Given the description of an element on the screen output the (x, y) to click on. 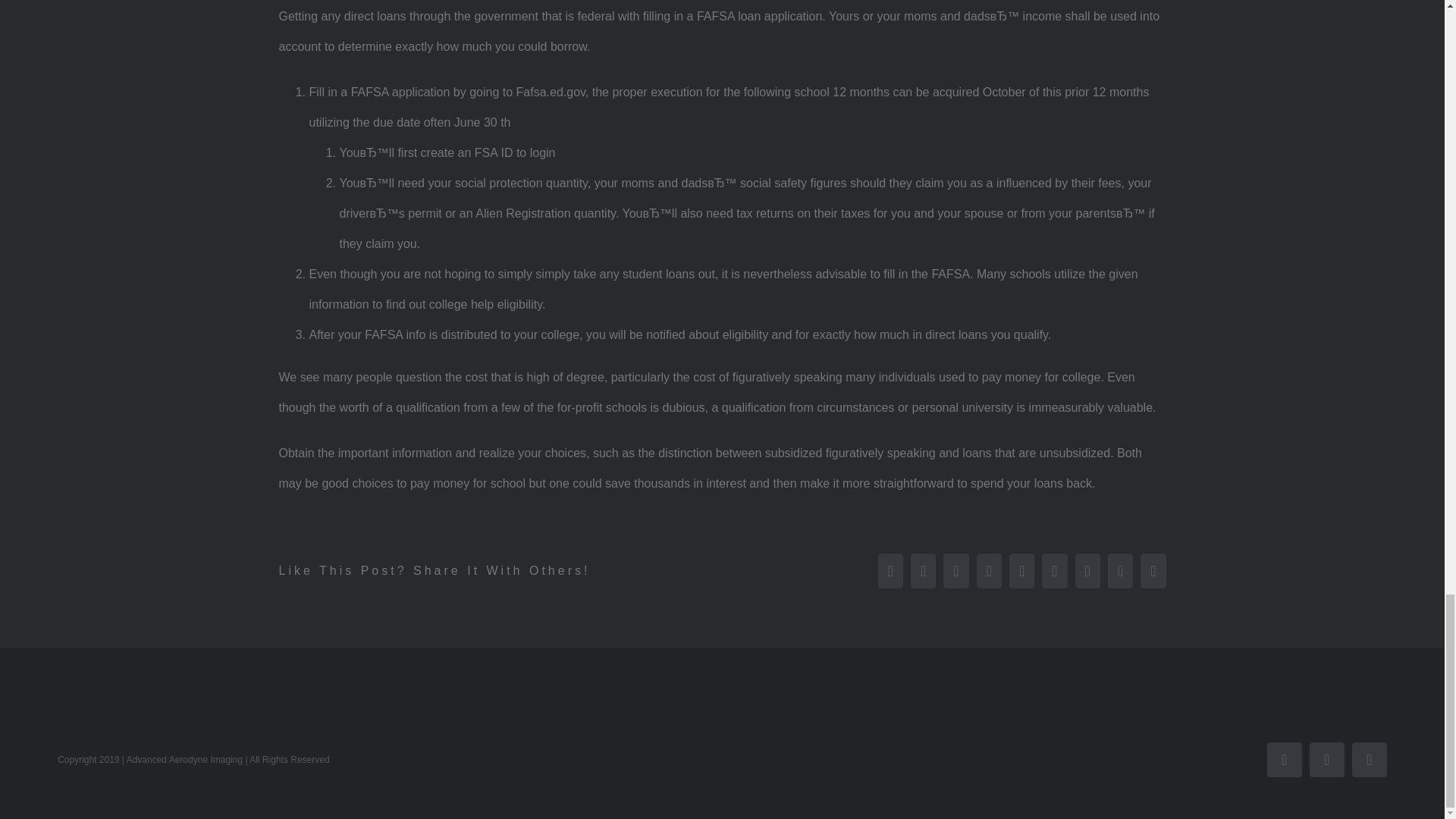
YouTube (1283, 759)
Instagram (1325, 759)
Facebook (1369, 759)
